Given the description of an element on the screen output the (x, y) to click on. 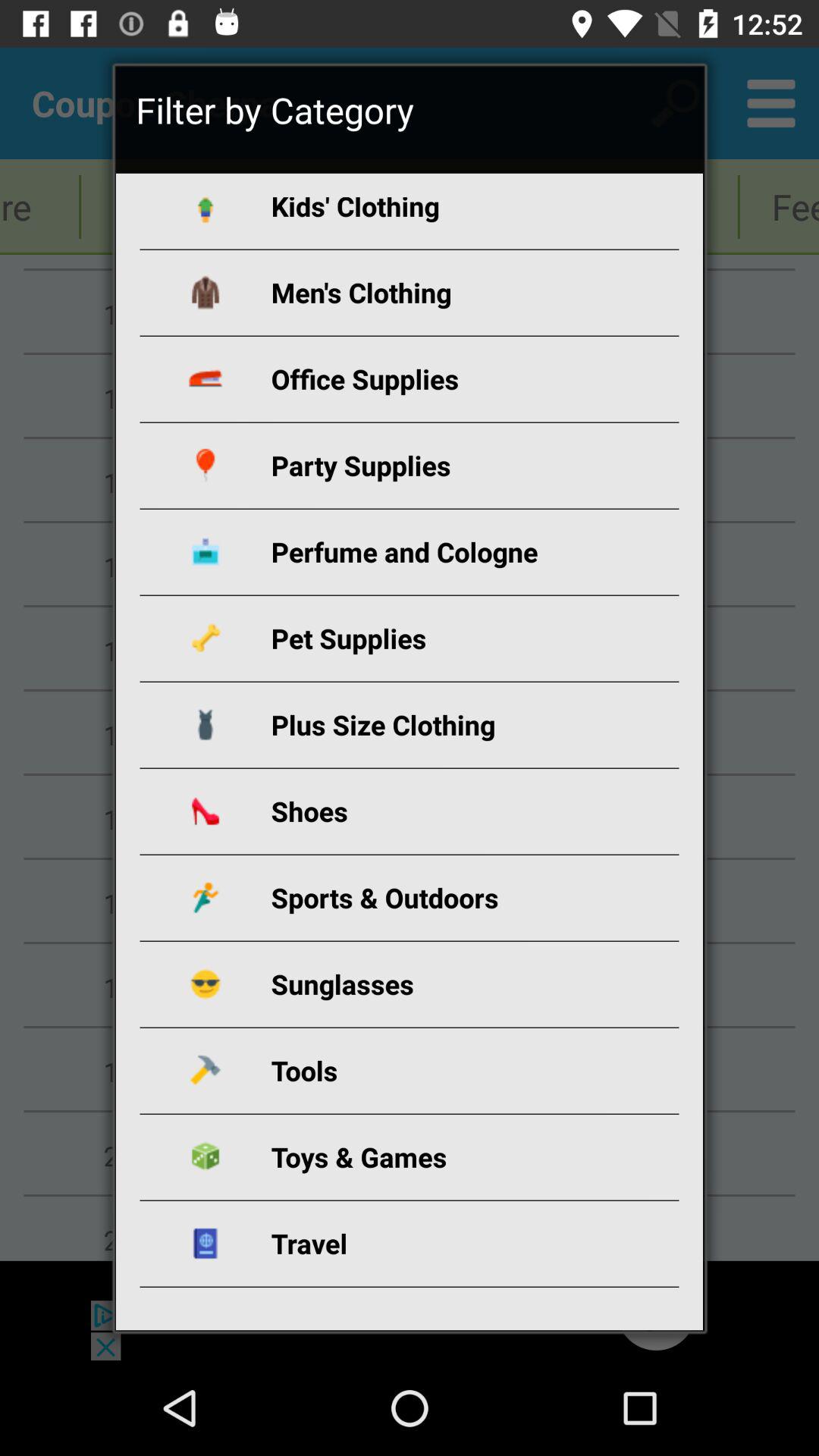
jump until the travel app (427, 1243)
